Given the description of an element on the screen output the (x, y) to click on. 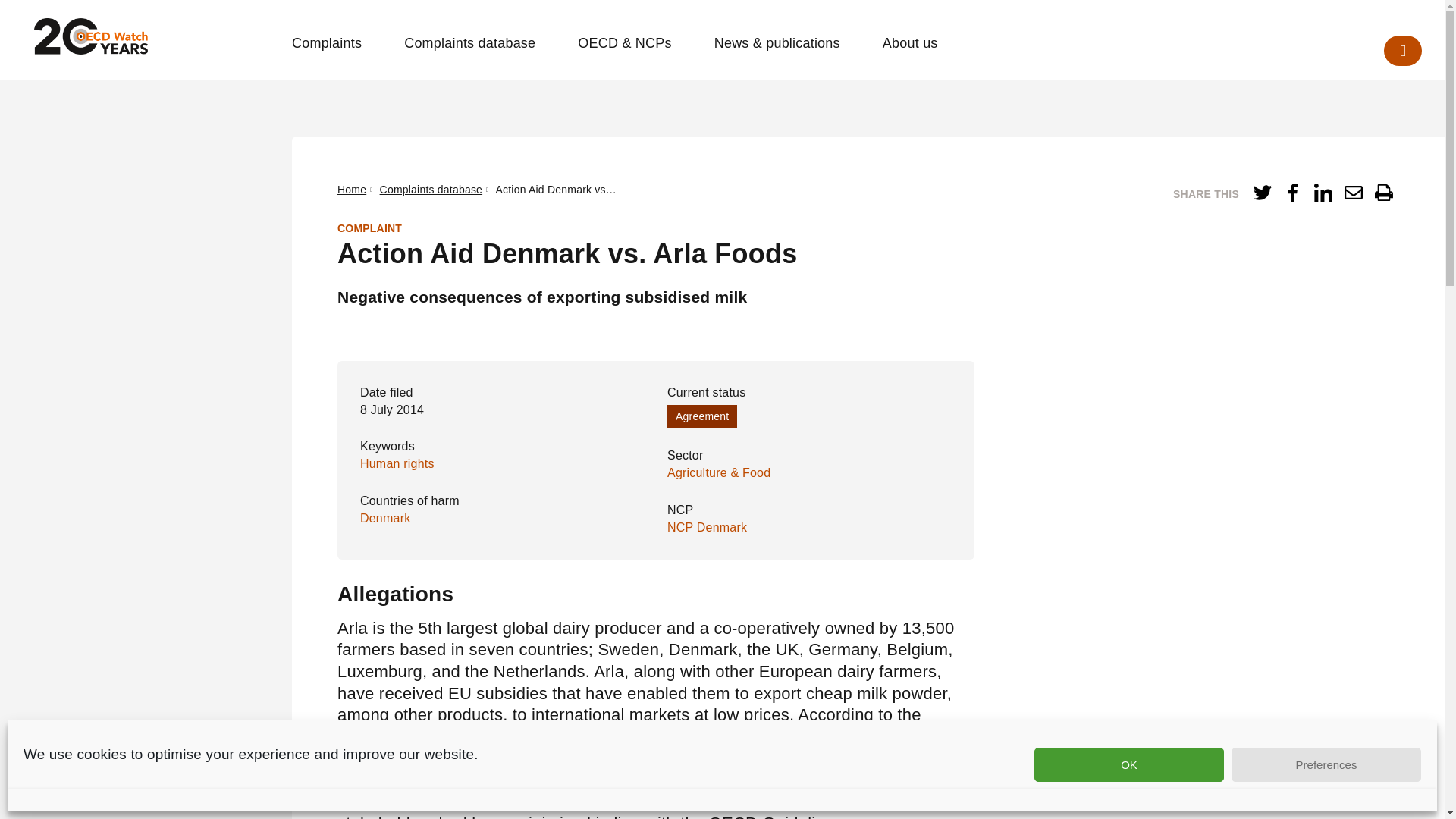
OK (1128, 764)
print Created with Sketch. (1383, 192)
linkedin Created with Sketch. (1323, 192)
Complaints database (469, 43)
Complaints (326, 43)
Preferences (1326, 764)
OECD Watch (90, 36)
email Created with Sketch. (1352, 192)
twitter Created with Sketch. (1262, 192)
facebook Created with Sketch. (1292, 192)
